Given the description of an element on the screen output the (x, y) to click on. 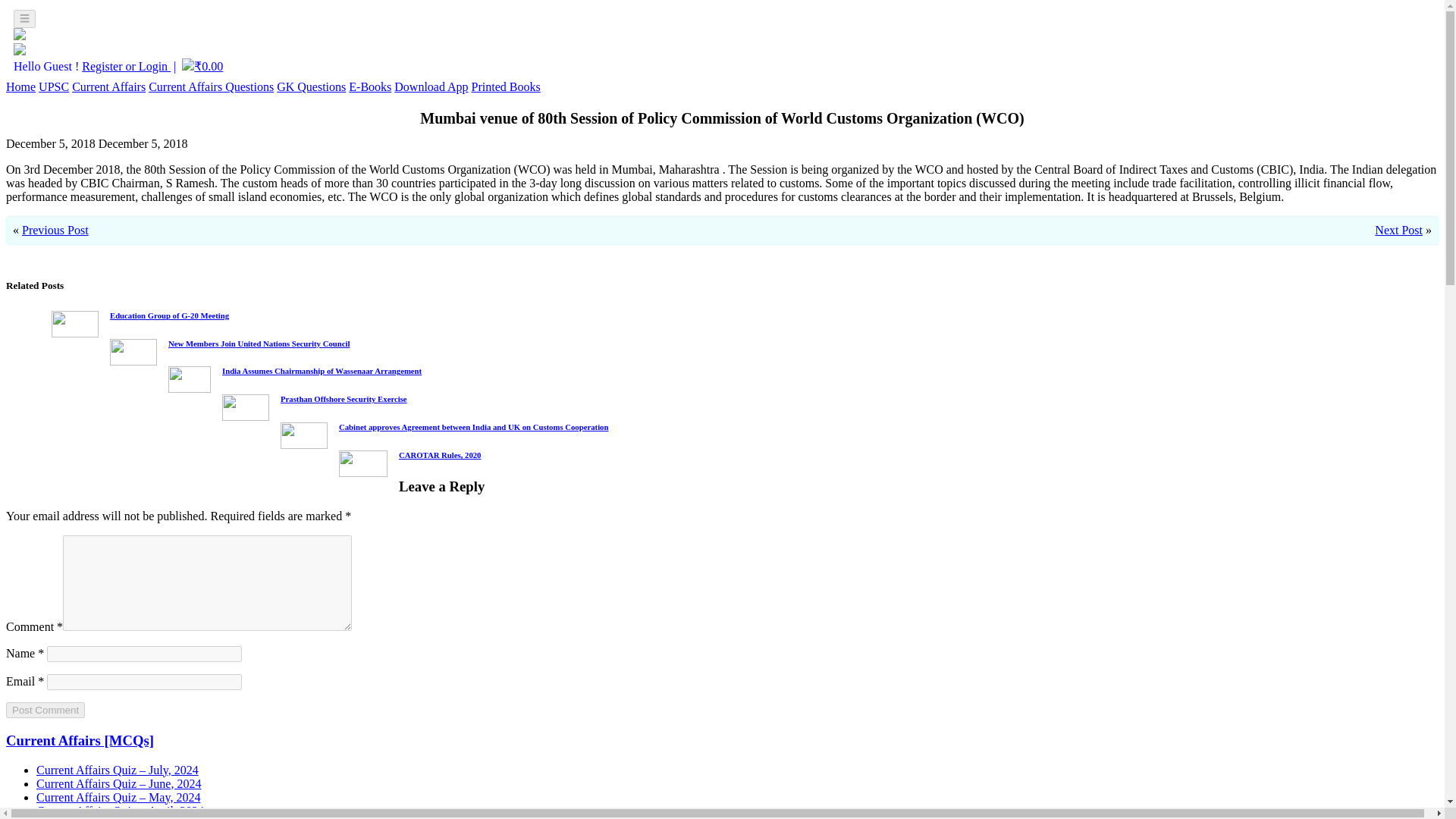
Post Comment (44, 709)
New Members Join United Nations Security Council (258, 342)
GK Questions (311, 86)
E-Books (370, 86)
UPSC (53, 86)
CAROTAR Rules, 2020 (439, 454)
India Assumes Chairmanship of Wassenaar Arrangement (322, 370)
India Assumes Chairmanship of Wassenaar Arrangement (322, 370)
Post Comment (44, 709)
Current Affairs (108, 86)
Current Affairs Questions (210, 86)
Next Post (1398, 229)
New Members Join United Nations Security Council (258, 342)
